Given the description of an element on the screen output the (x, y) to click on. 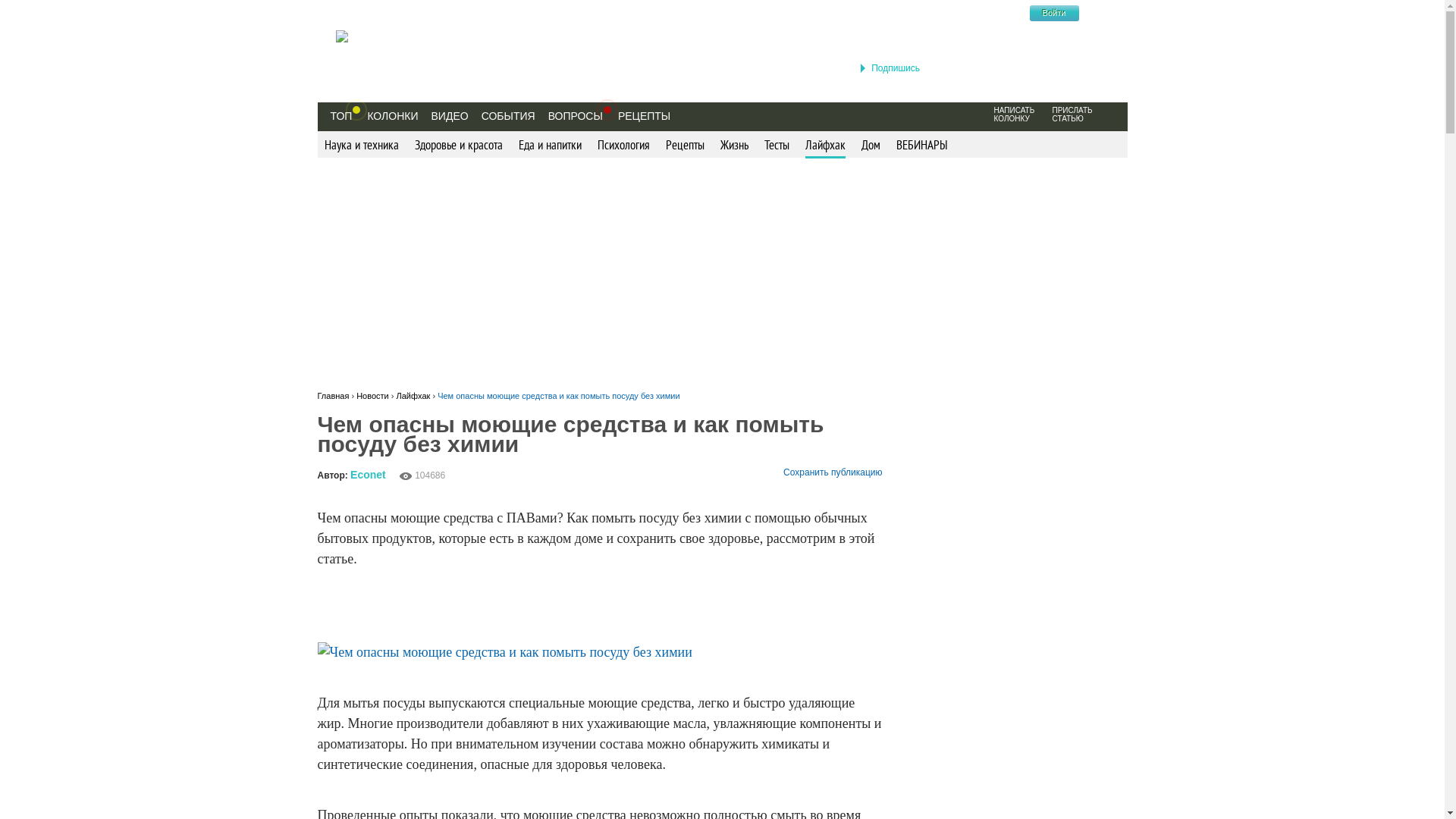
Econet Element type: text (367, 474)
Advertisement Element type: hover (721, 270)
0.0
0.0
0.0
0.0
0.0 Element type: text (517, 475)
